Given the description of an element on the screen output the (x, y) to click on. 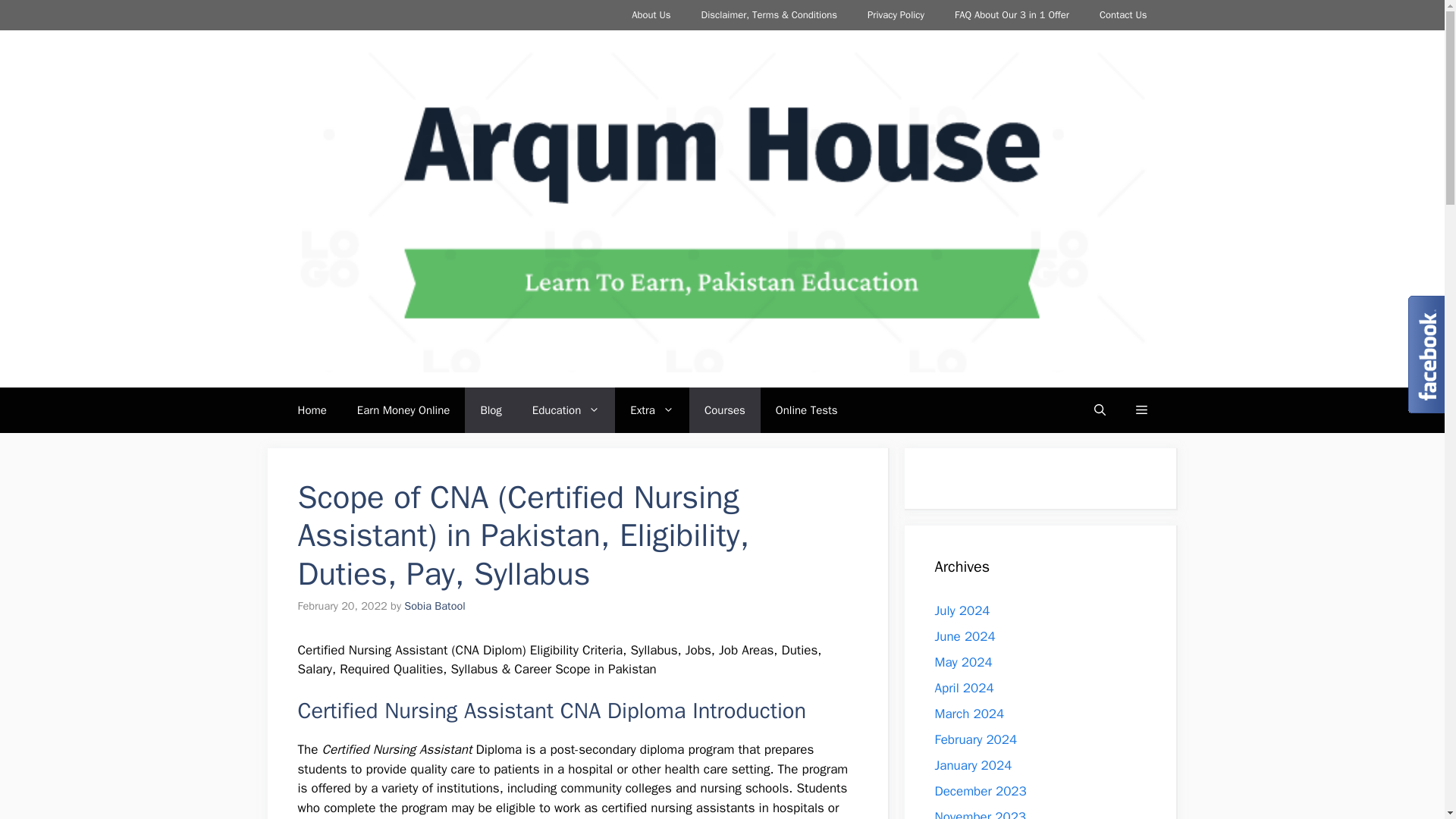
Education (565, 410)
Courses (724, 410)
Contact Us (1122, 15)
Online Tests (806, 410)
FAQ About Our 3 in 1 Offer (1011, 15)
Privacy Policy (895, 15)
Home (311, 410)
About Us (650, 15)
Extra (651, 410)
View all posts by Sobia Batool (434, 605)
Earn Money Online (403, 410)
Sobia Batool (434, 605)
Blog (490, 410)
